Given the description of an element on the screen output the (x, y) to click on. 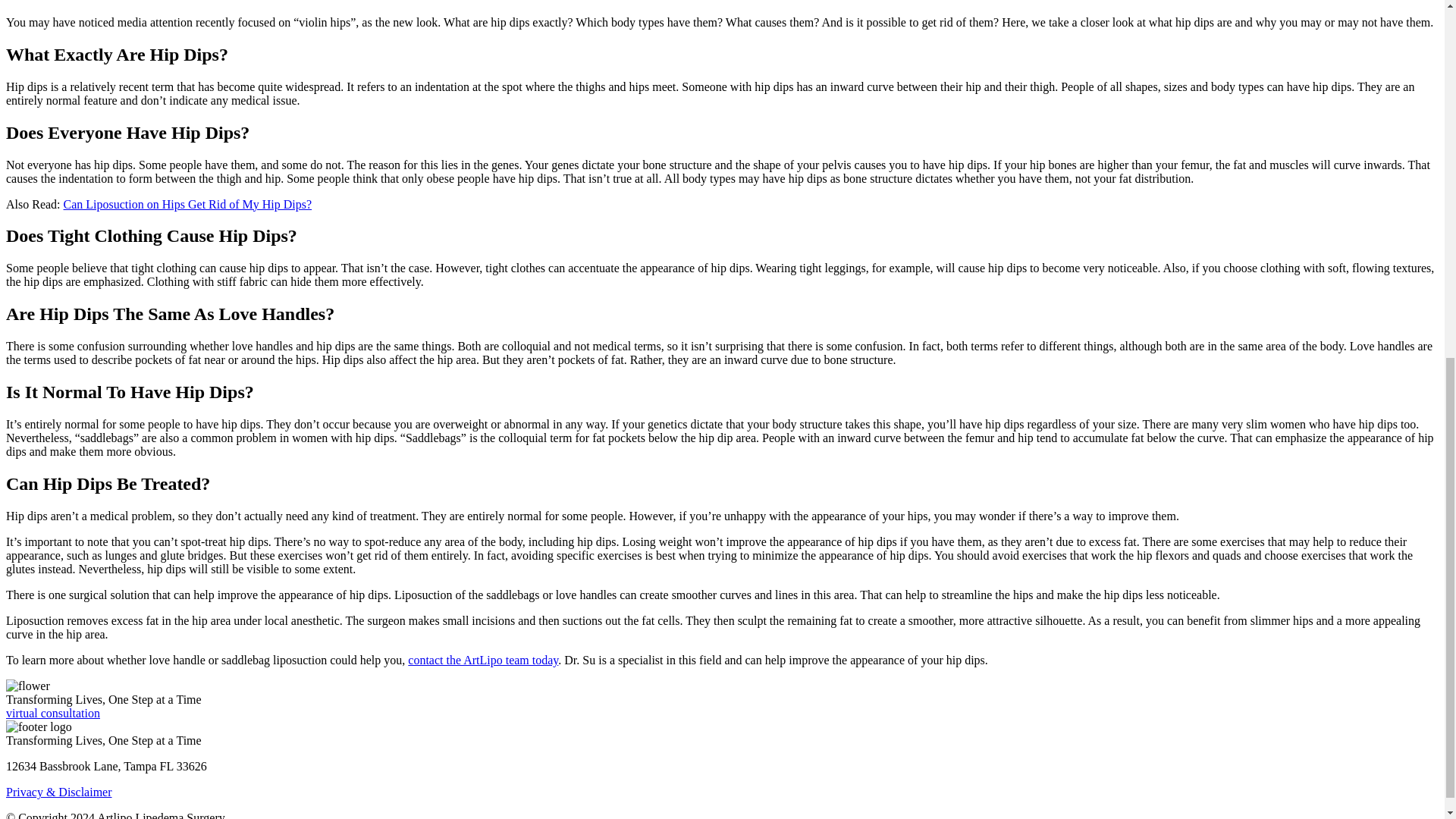
virtual consultation (52, 712)
contact the ArtLipo team today (482, 659)
Can Liposuction on Hips Get Rid of My Hip Dips? (188, 203)
